Given the description of an element on the screen output the (x, y) to click on. 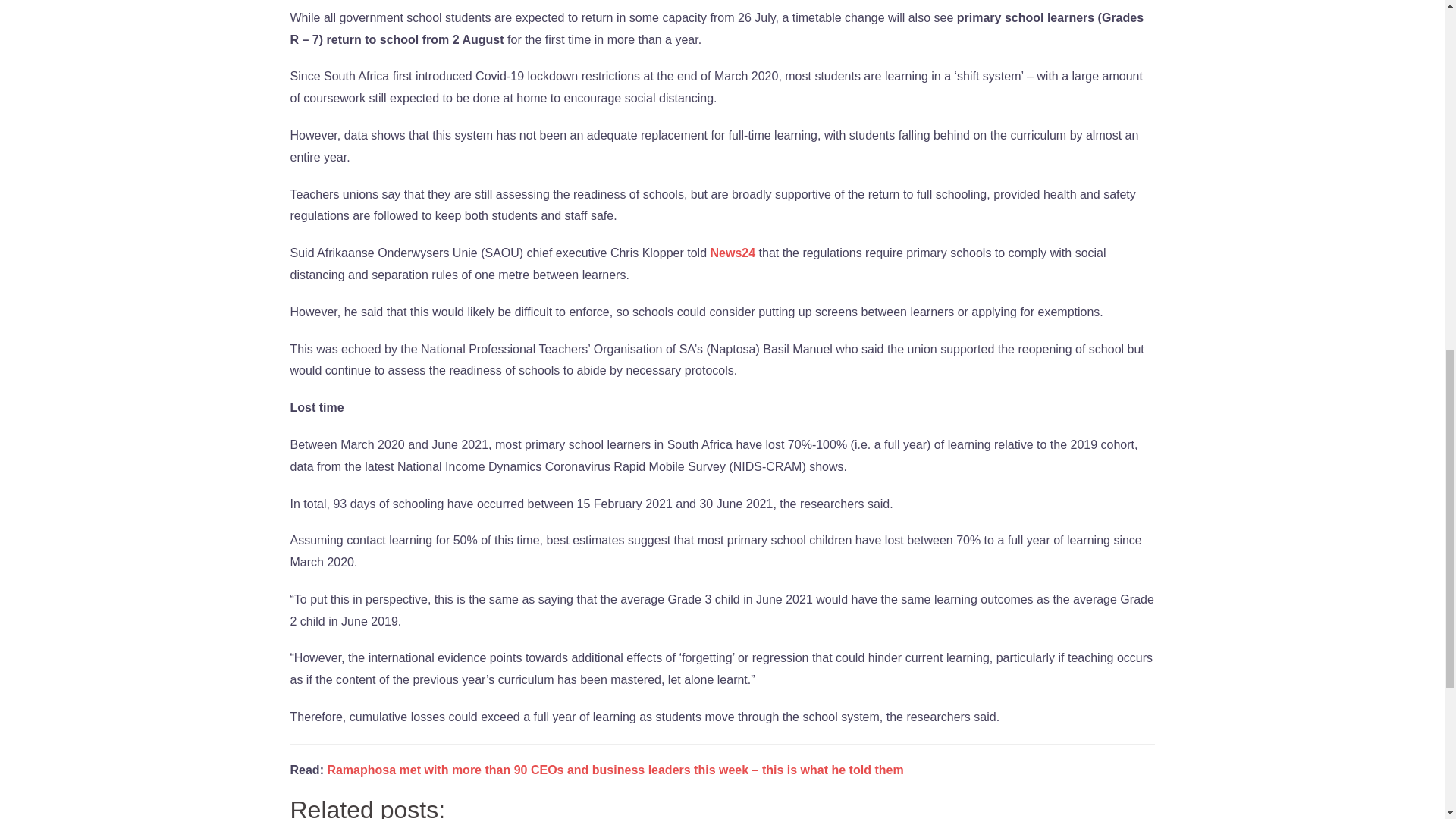
News24 (732, 252)
